Given the description of an element on the screen output the (x, y) to click on. 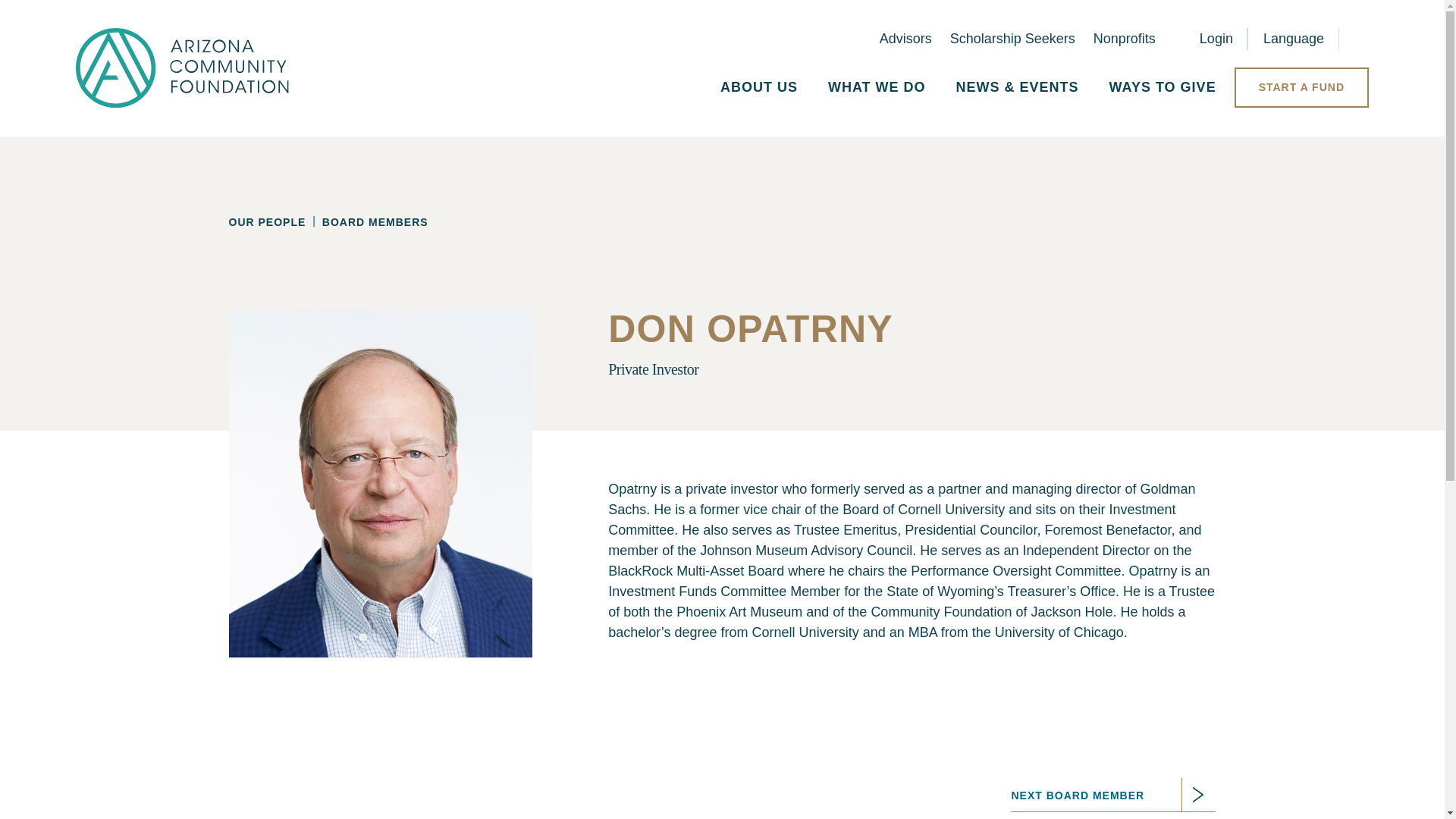
Language (1293, 38)
Scholarship Seekers (1012, 38)
Login (1203, 38)
START A FUND (1301, 87)
WAYS TO GIVE (1162, 87)
Nonprofits (1124, 38)
Advisors (905, 38)
WHAT WE DO (877, 87)
